Given the description of an element on the screen output the (x, y) to click on. 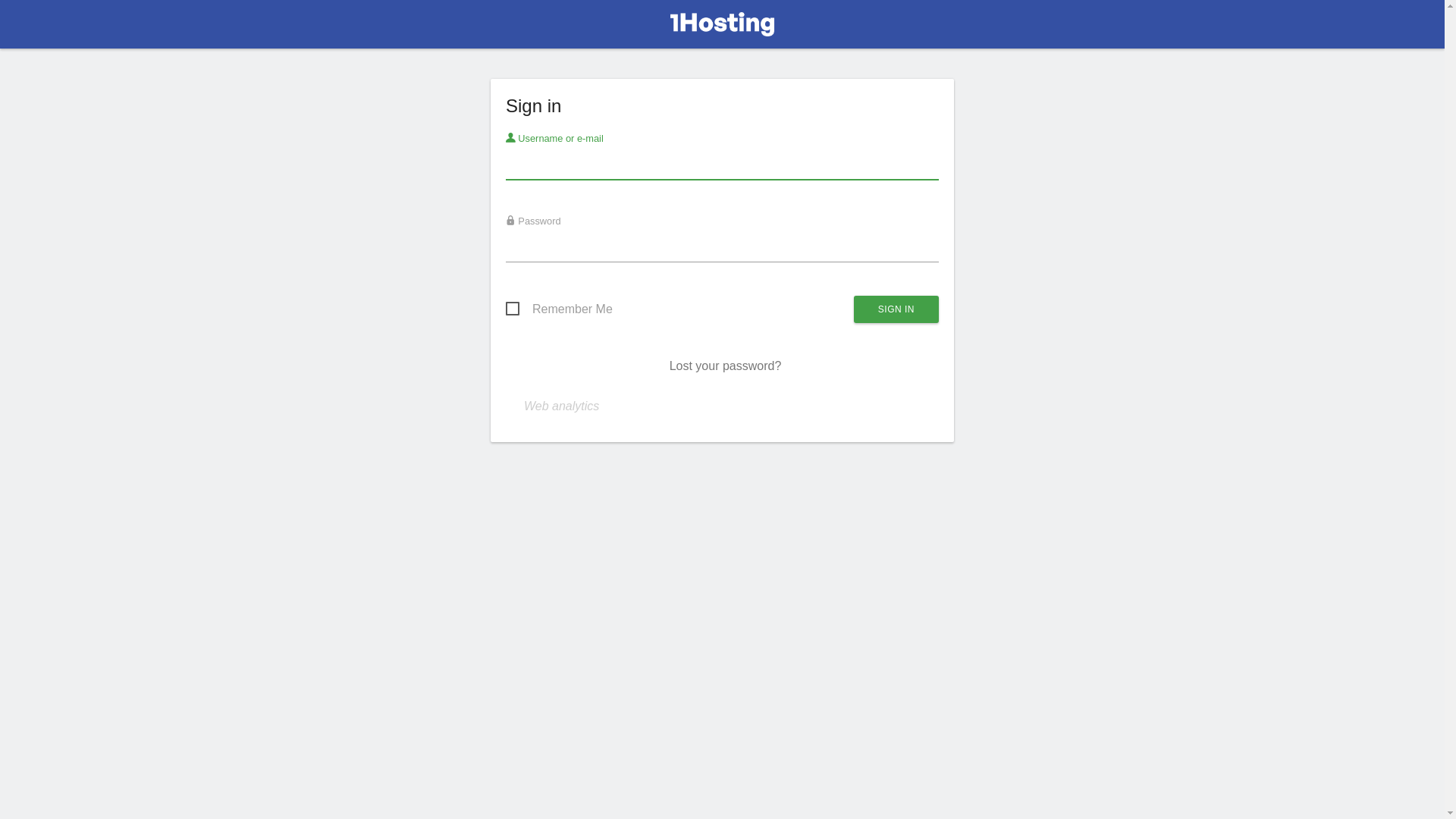
Sign in Element type: text (895, 309)
Lost your password? Element type: text (725, 365)
Powered by Matomo Element type: hover (722, 27)
Web analytics Element type: text (561, 405)
